Given the description of an element on the screen output the (x, y) to click on. 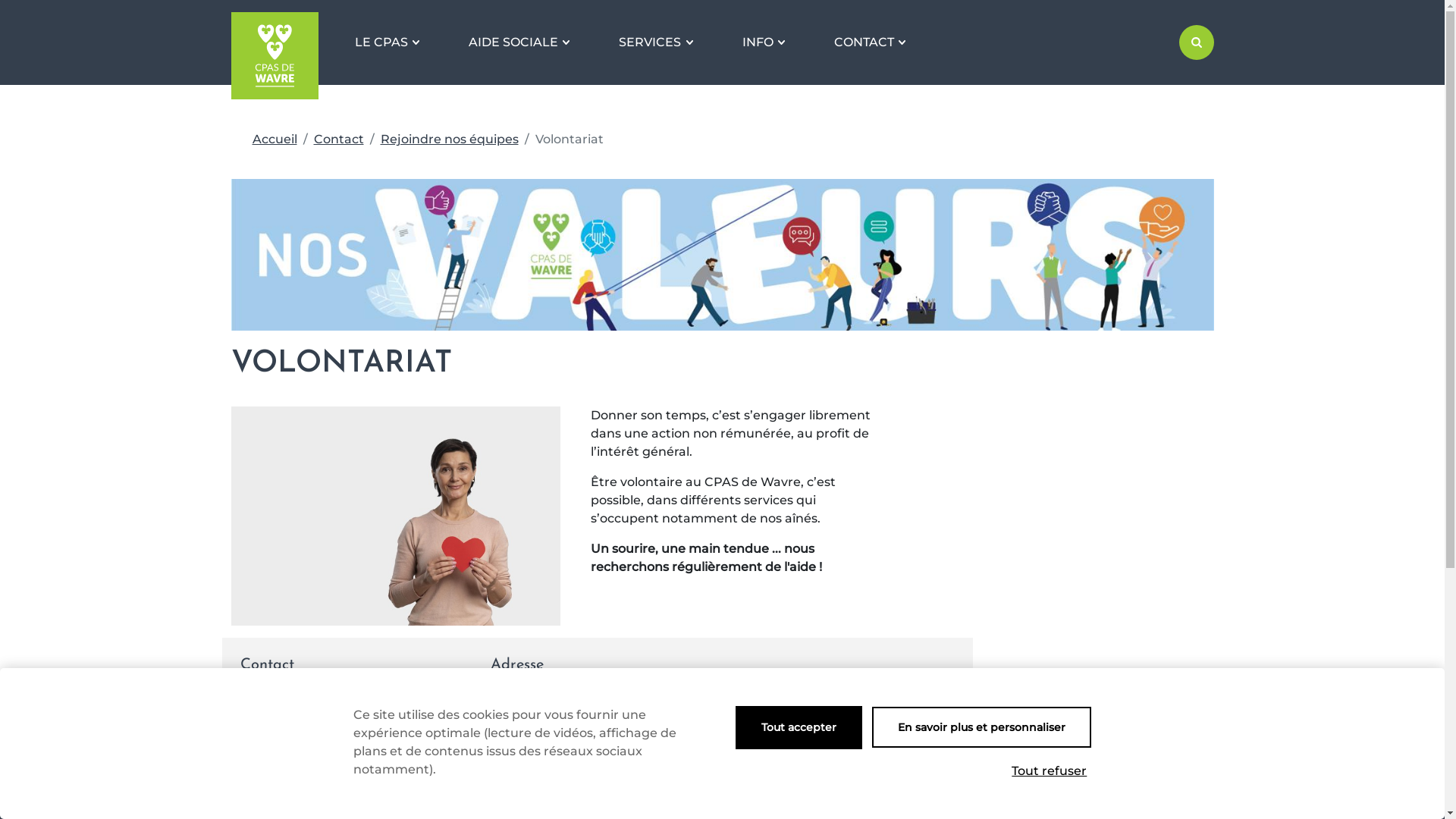
LE CPAS Element type: text (386, 42)
AIDE SOCIALE Element type: text (518, 42)
Tout refuser Element type: text (1049, 771)
CONTACT Element type: text (869, 42)
INFO Element type: text (763, 42)
+3210237656 Element type: text (353, 689)
SERVICES Element type: text (655, 42)
ressourceshumaines@cpaswavre.be Element type: text (353, 707)
Contact Element type: text (338, 138)
En savoir plus et personnaliser Element type: text (981, 726)
Rechercher Element type: text (1195, 42)
Accueil Element type: text (273, 138)
Tout accepter Element type: text (798, 727)
